Given the description of an element on the screen output the (x, y) to click on. 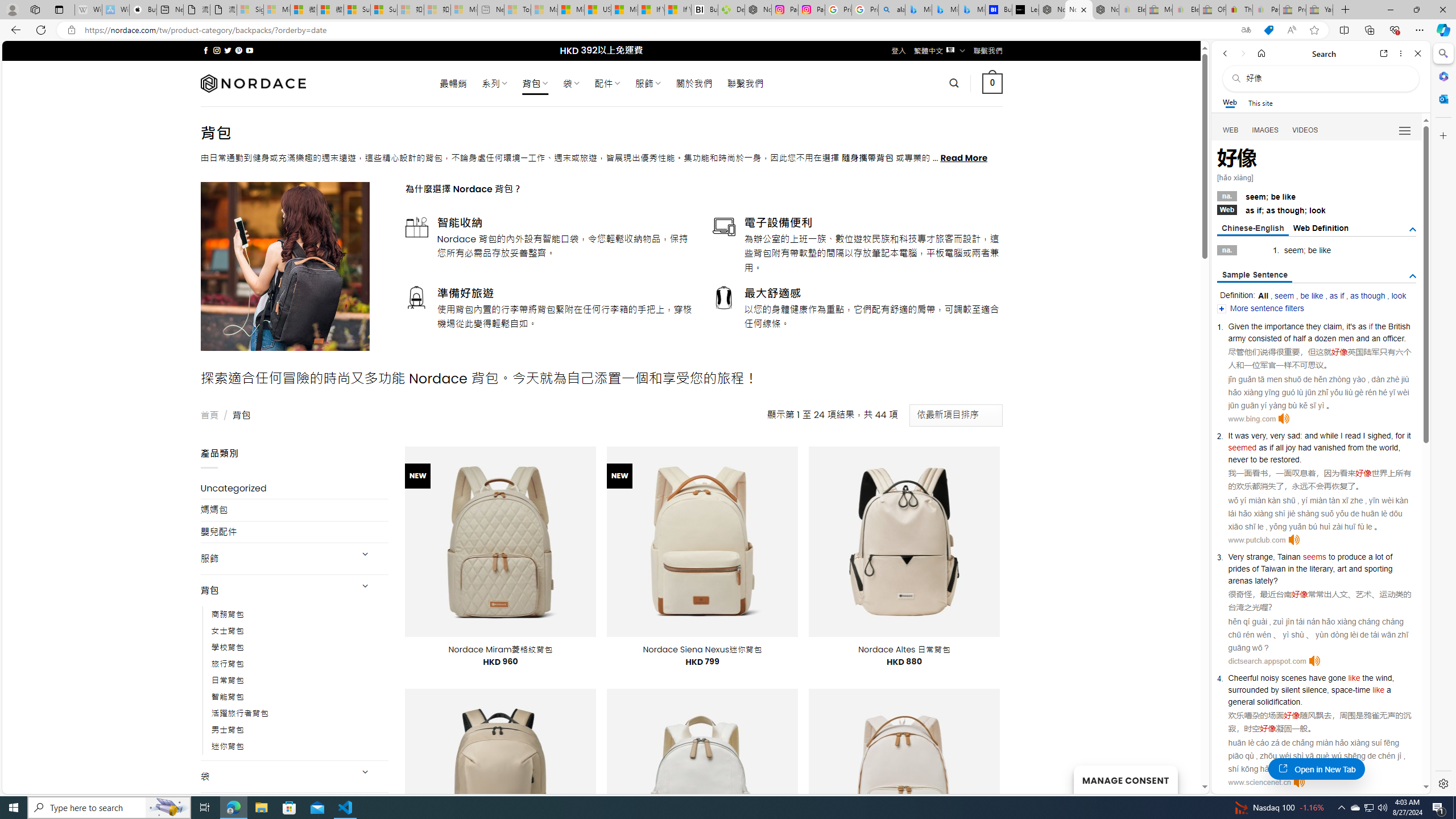
Taiwan (1272, 568)
Web Definition (1321, 227)
sporting (1378, 568)
Search the web (1326, 78)
